Given the description of an element on the screen output the (x, y) to click on. 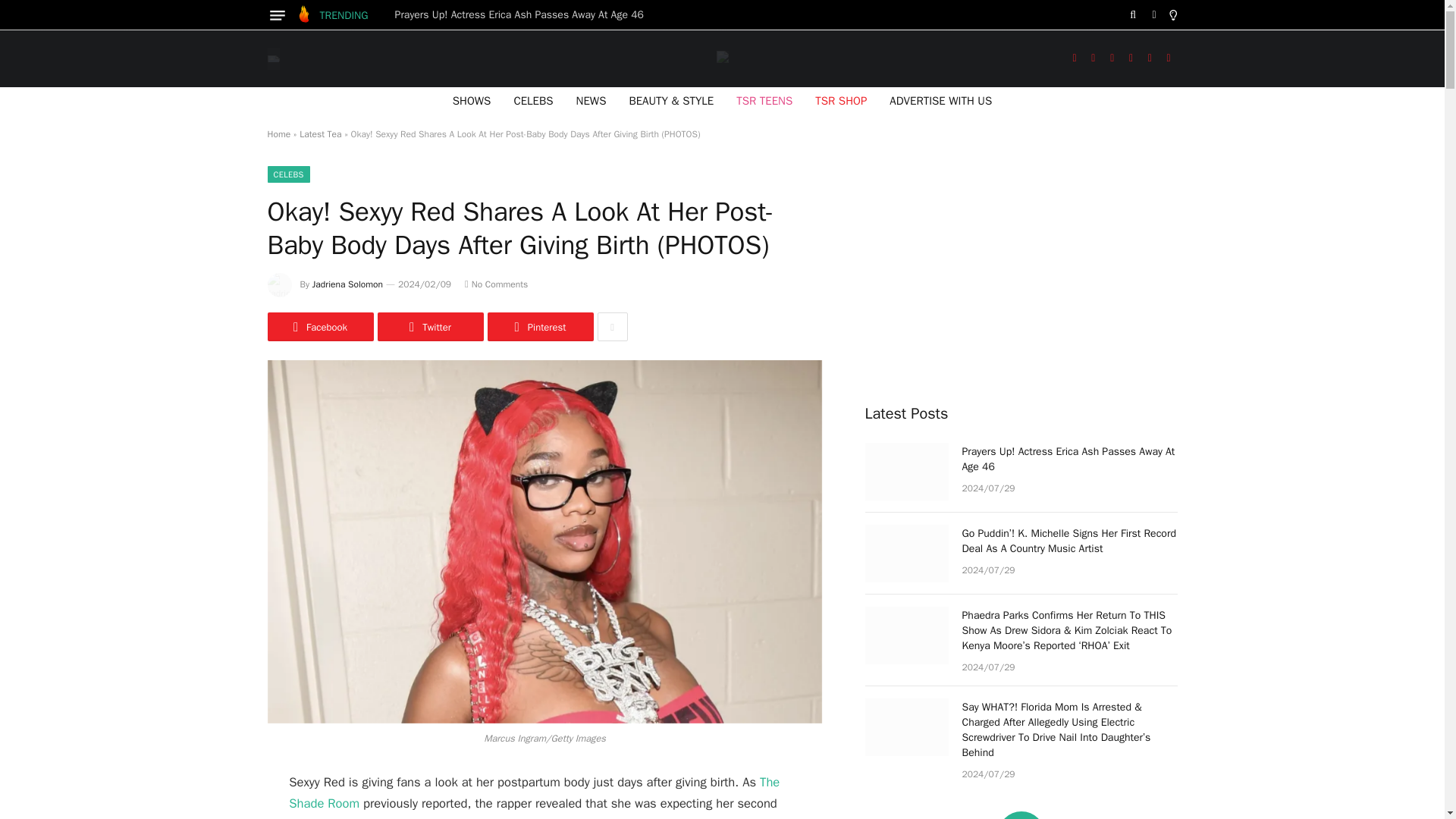
Share on Facebook (319, 326)
Prayers Up! Actress Erica Ash Passes Away At Age 46 (522, 15)
Posts by Jadriena Solomon (347, 284)
Share on Pinterest (539, 326)
SHOWS (471, 99)
Switch to Dark Design - easier on eyes. (1153, 14)
Show More Social Sharing (611, 326)
